Given the description of an element on the screen output the (x, y) to click on. 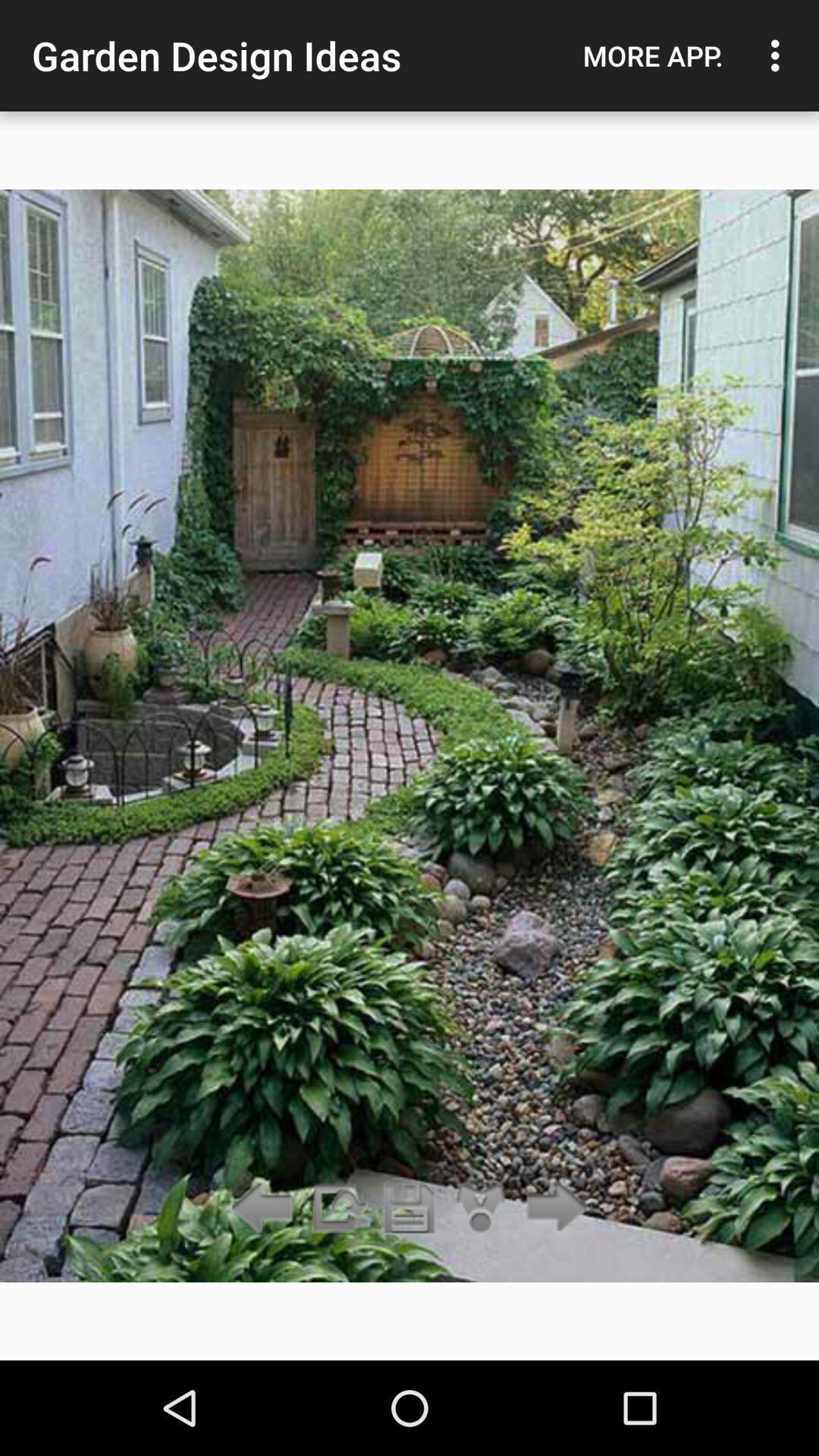
next picture (552, 1209)
